Given the description of an element on the screen output the (x, y) to click on. 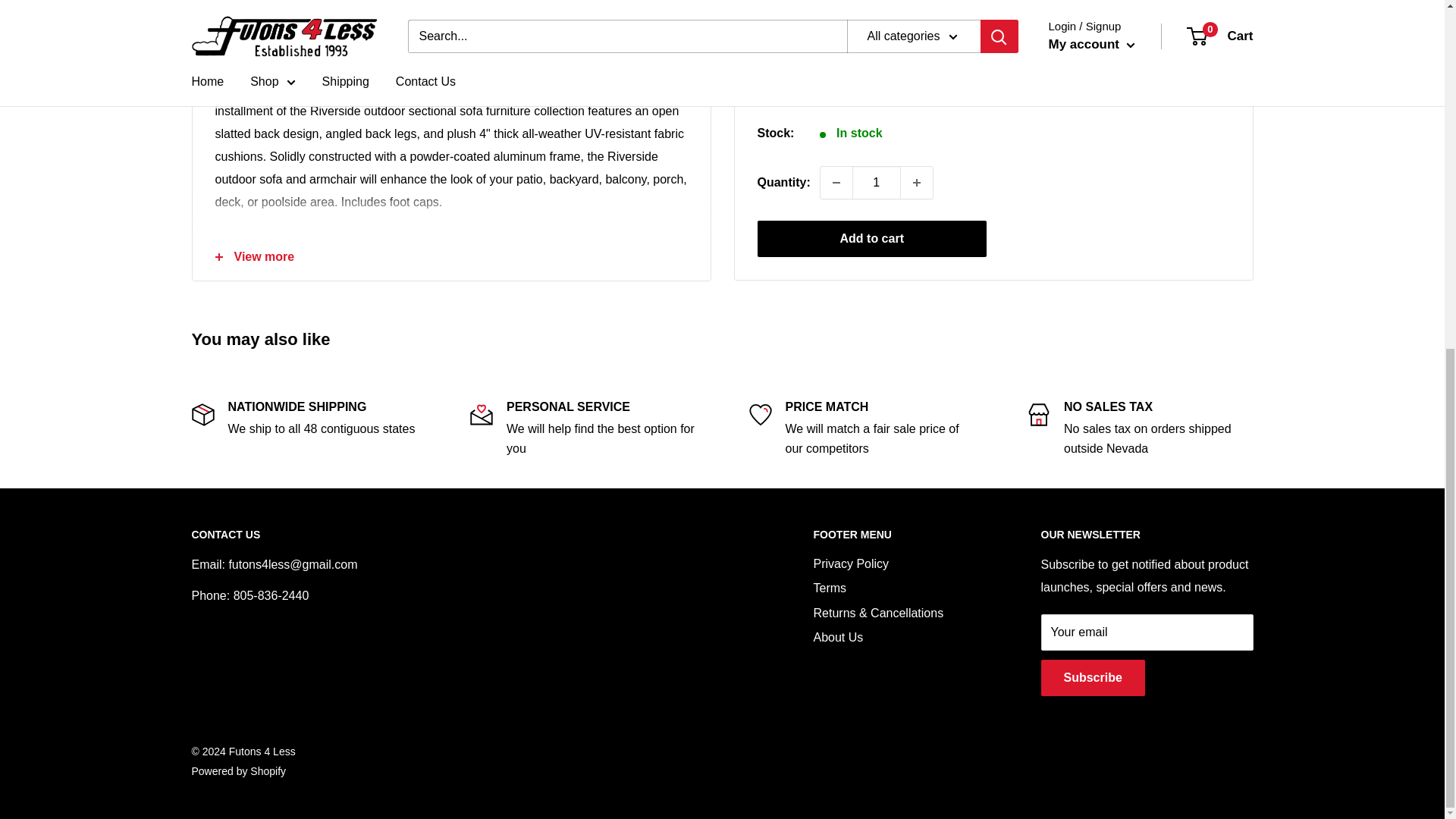
Increase quantity by 1 (917, 163)
Decrease quantity by 1 (836, 163)
1 (876, 163)
